Given the description of an element on the screen output the (x, y) to click on. 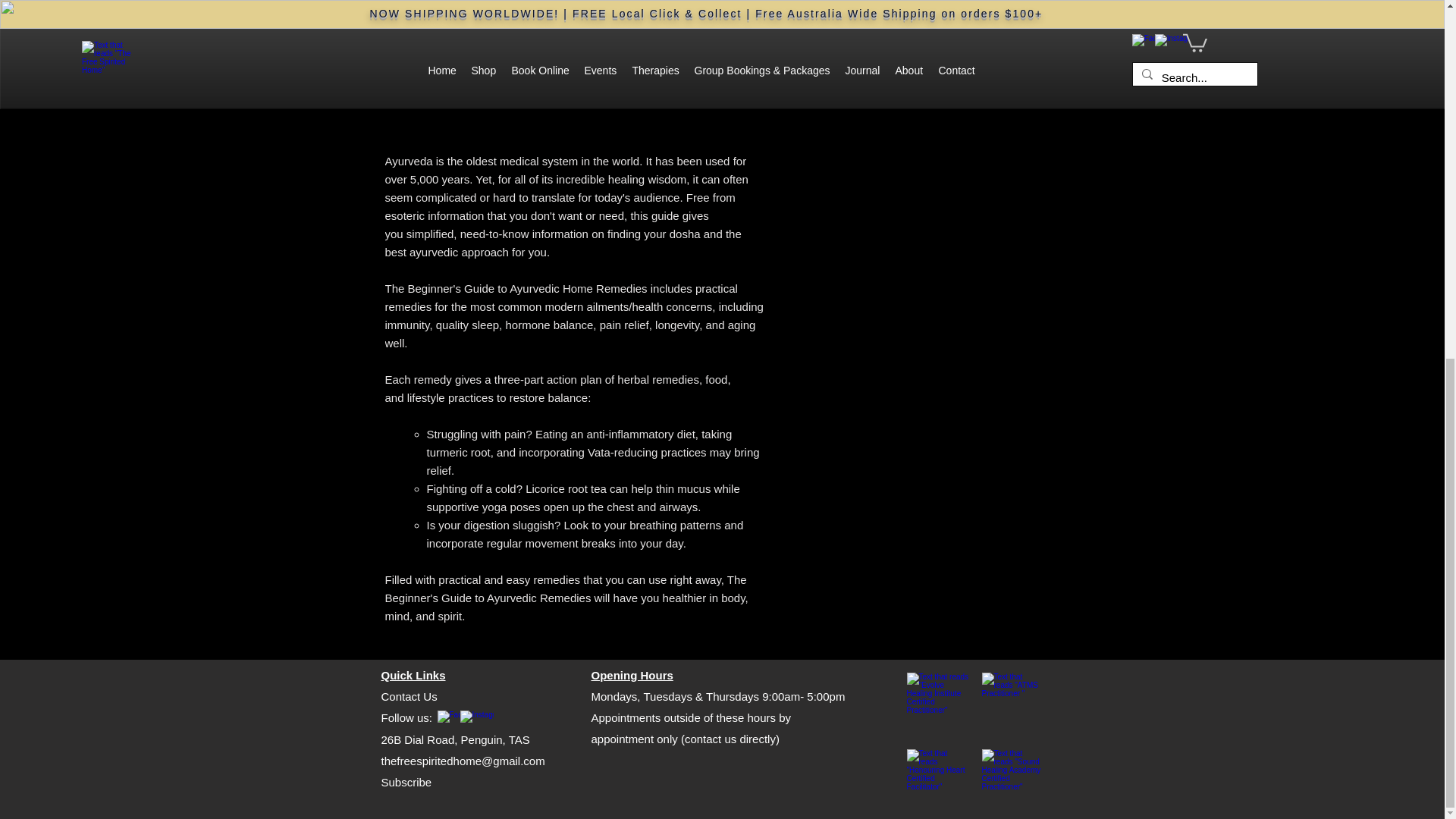
Subscribe (405, 781)
Contact Us (408, 696)
Opening Hours (631, 675)
26B Dial Road, Penguin, TAS (454, 739)
